Given the description of an element on the screen output the (x, y) to click on. 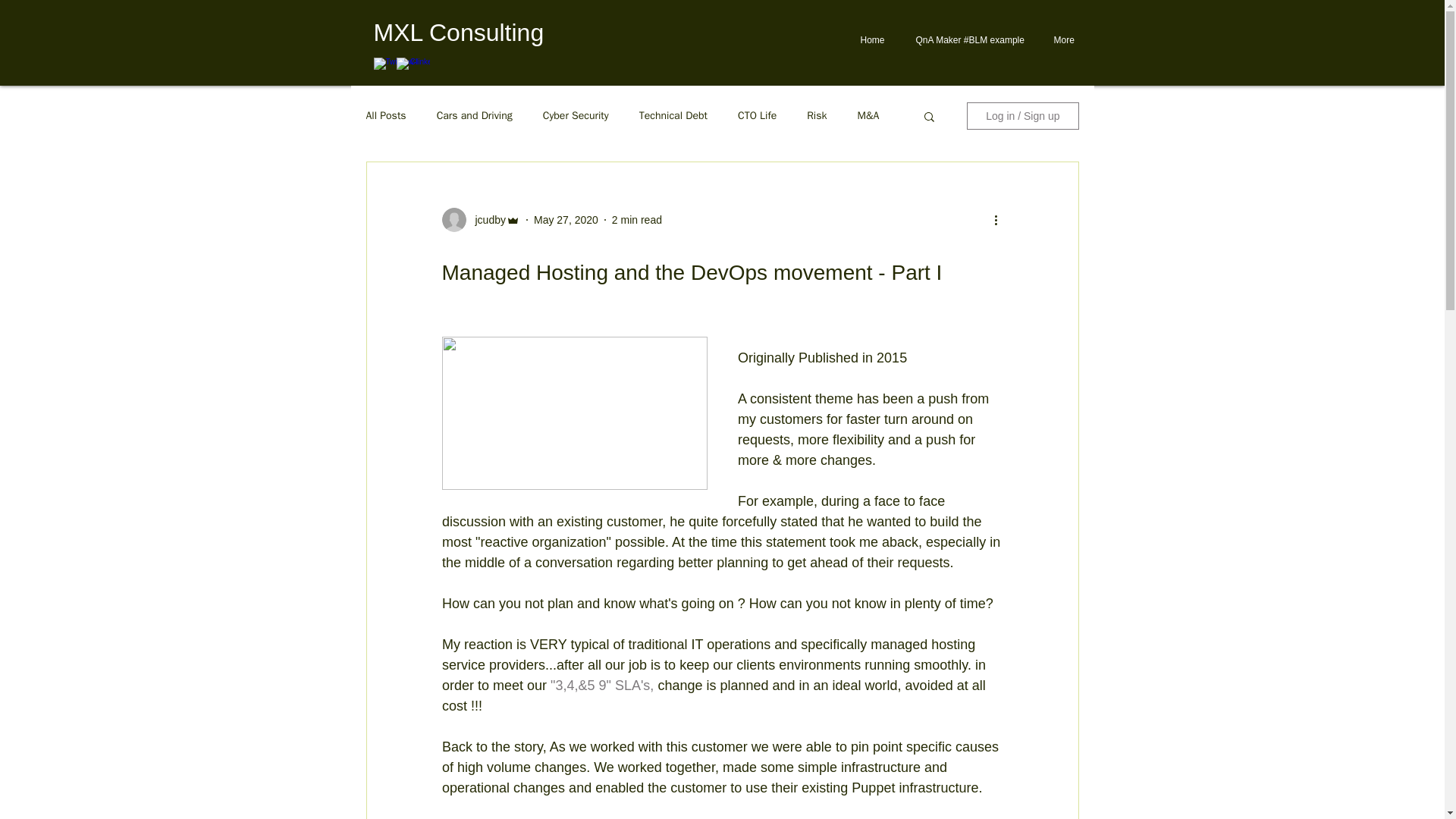
Risk (816, 115)
Cars and Driving (474, 115)
Home (871, 40)
MXL Consulting (457, 31)
Technical Debt (673, 115)
CTO Life (757, 115)
All Posts (385, 115)
2 min read (636, 219)
Cyber Security (575, 115)
jcudby (485, 220)
May 27, 2020 (566, 219)
